Given the description of an element on the screen output the (x, y) to click on. 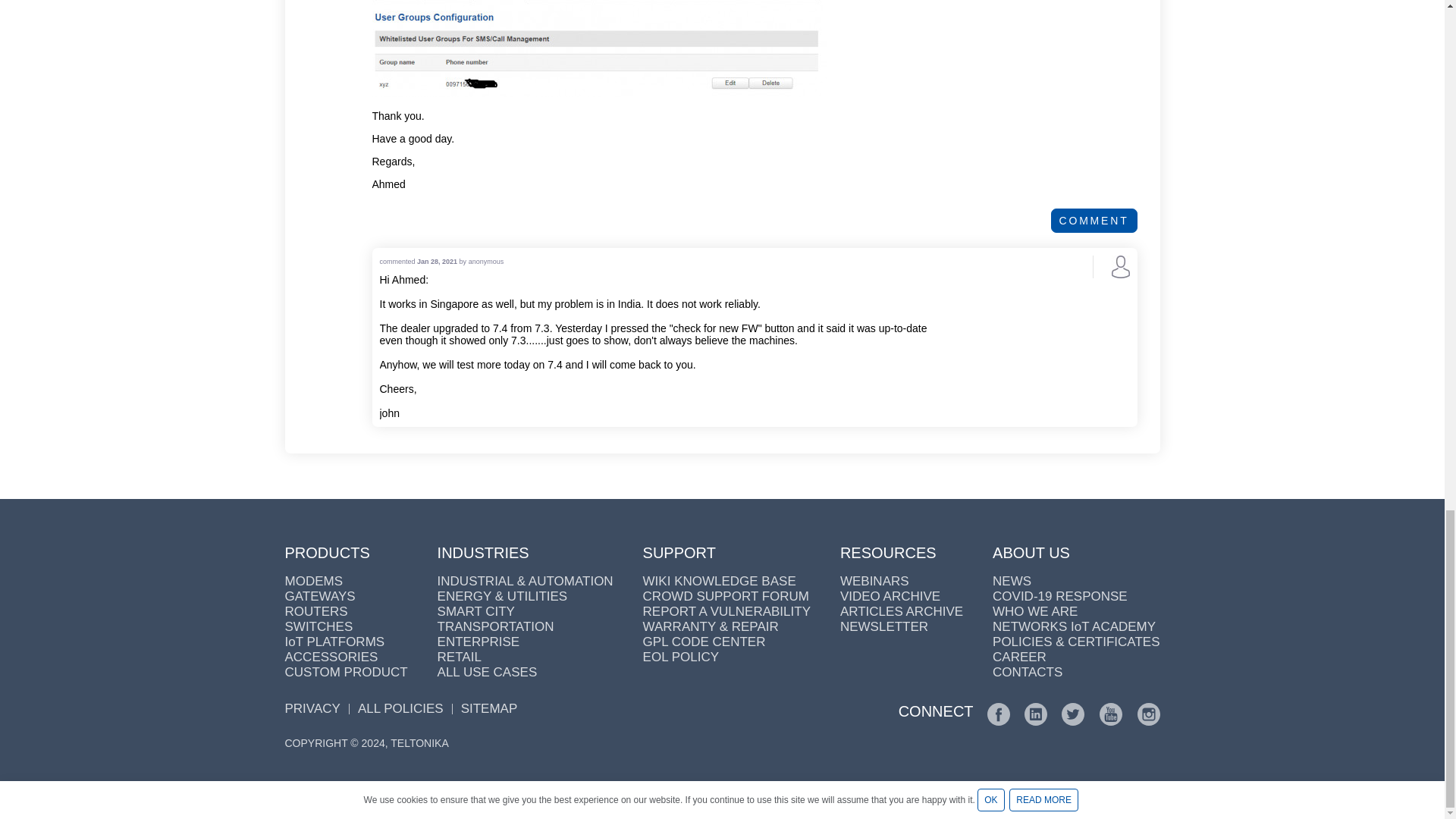
Add a comment on this answer (1094, 220)
comment (1094, 220)
